Given the description of an element on the screen output the (x, y) to click on. 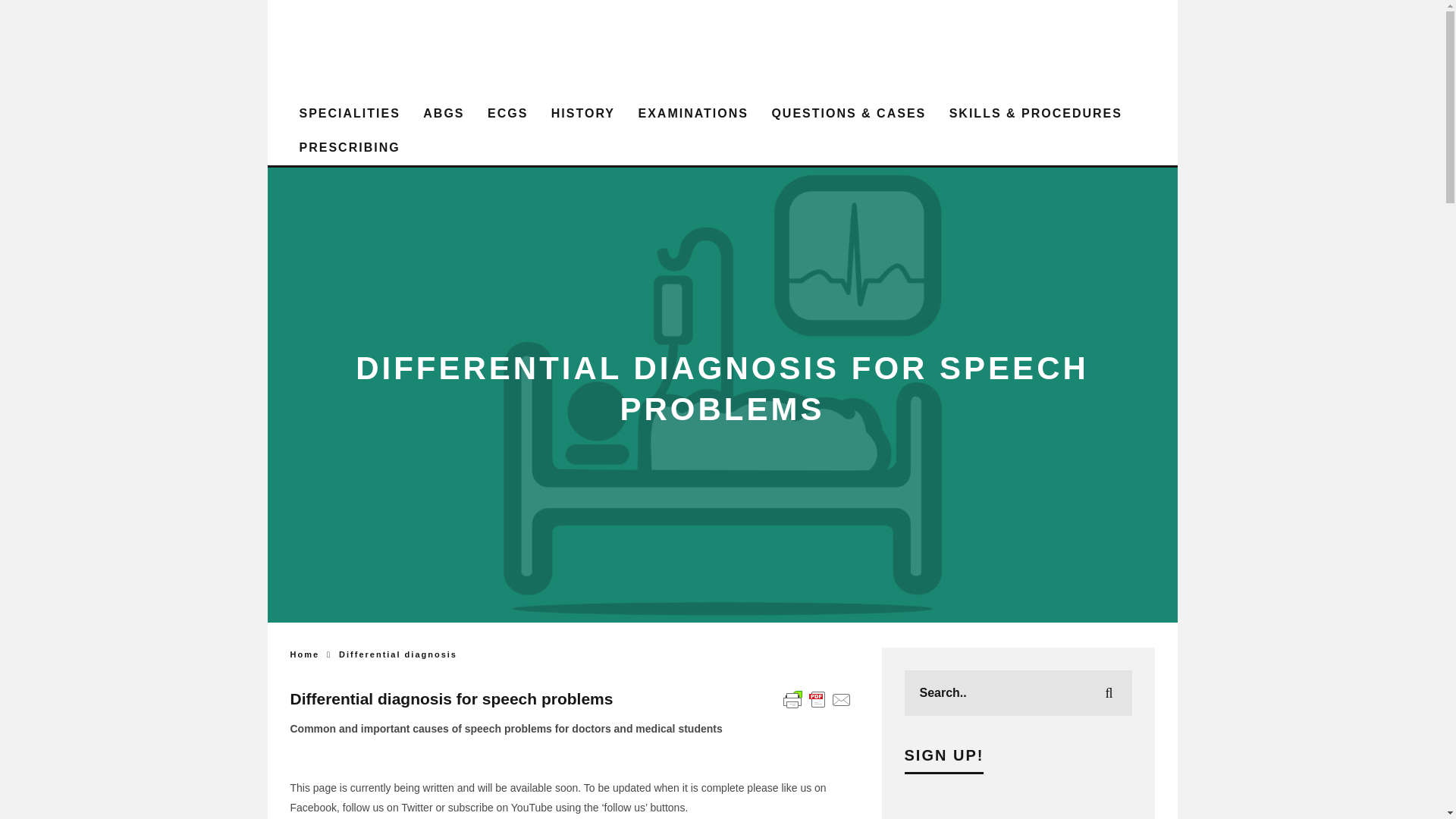
View all posts in Differential diagnosis (398, 654)
